Given the description of an element on the screen output the (x, y) to click on. 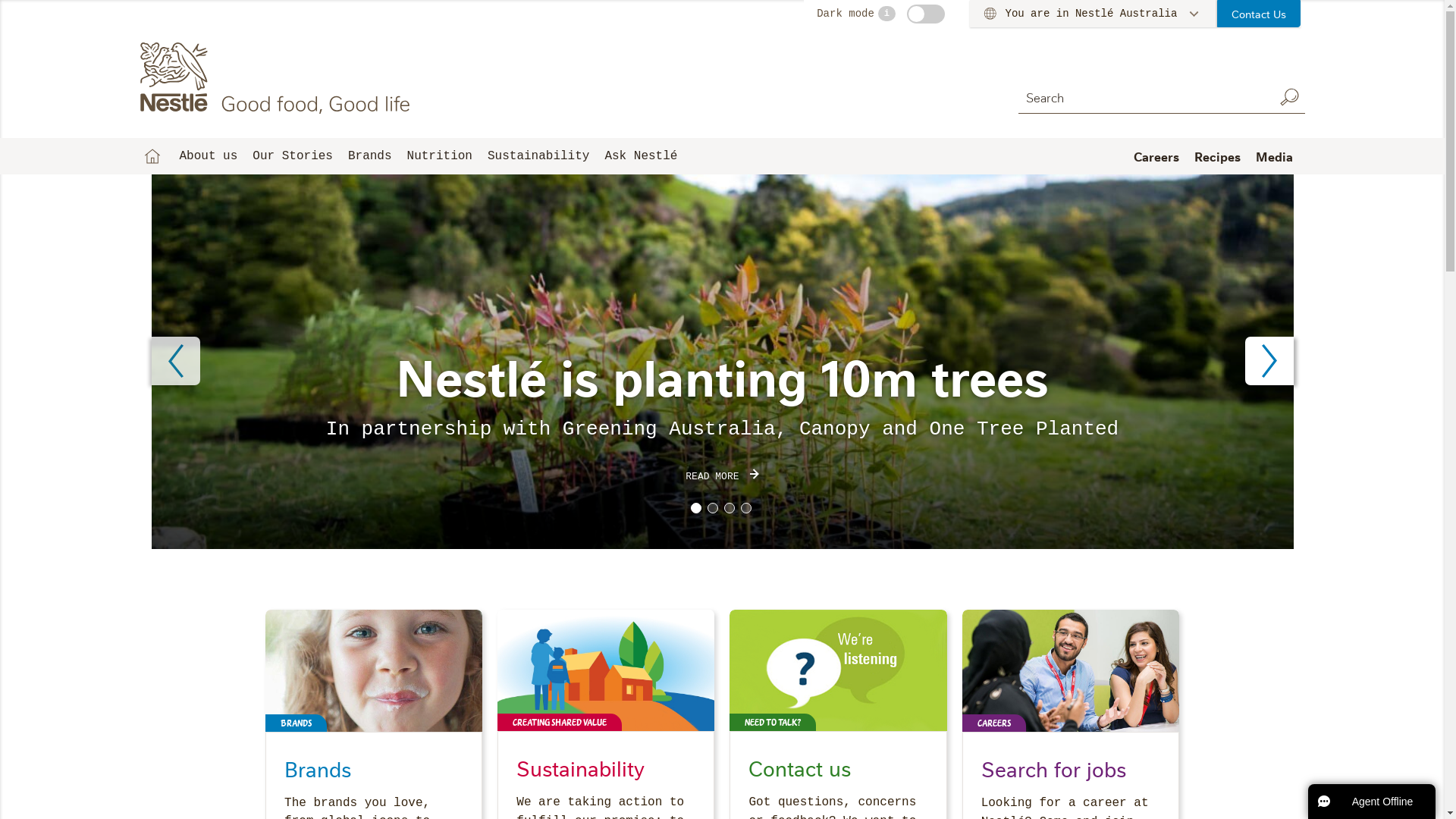
Next Element type: text (1269, 360)
Home Element type: hover (276, 77)
i Element type: text (886, 13)
Media Element type: text (1274, 156)
Our Stories Element type: text (292, 156)
Search Element type: text (1289, 96)
3 Element type: text (728, 507)
1 Element type: text (695, 507)
Recipes Element type: text (1216, 156)
planting_10_million_trees_plan Element type: hover (722, 361)
4 Element type: text (745, 507)
2 Element type: text (711, 507)
Sustainability Element type: text (538, 156)
Skip to main content Element type: text (0, 0)
Nutrition Element type: text (439, 156)
Previous Element type: text (175, 360)
About us Element type: text (207, 156)
Brands Element type: text (369, 156)
Contact Us Element type: text (1258, 13)
Careers Element type: text (1155, 156)
Home Element type: text (151, 155)
